Given the description of an element on the screen output the (x, y) to click on. 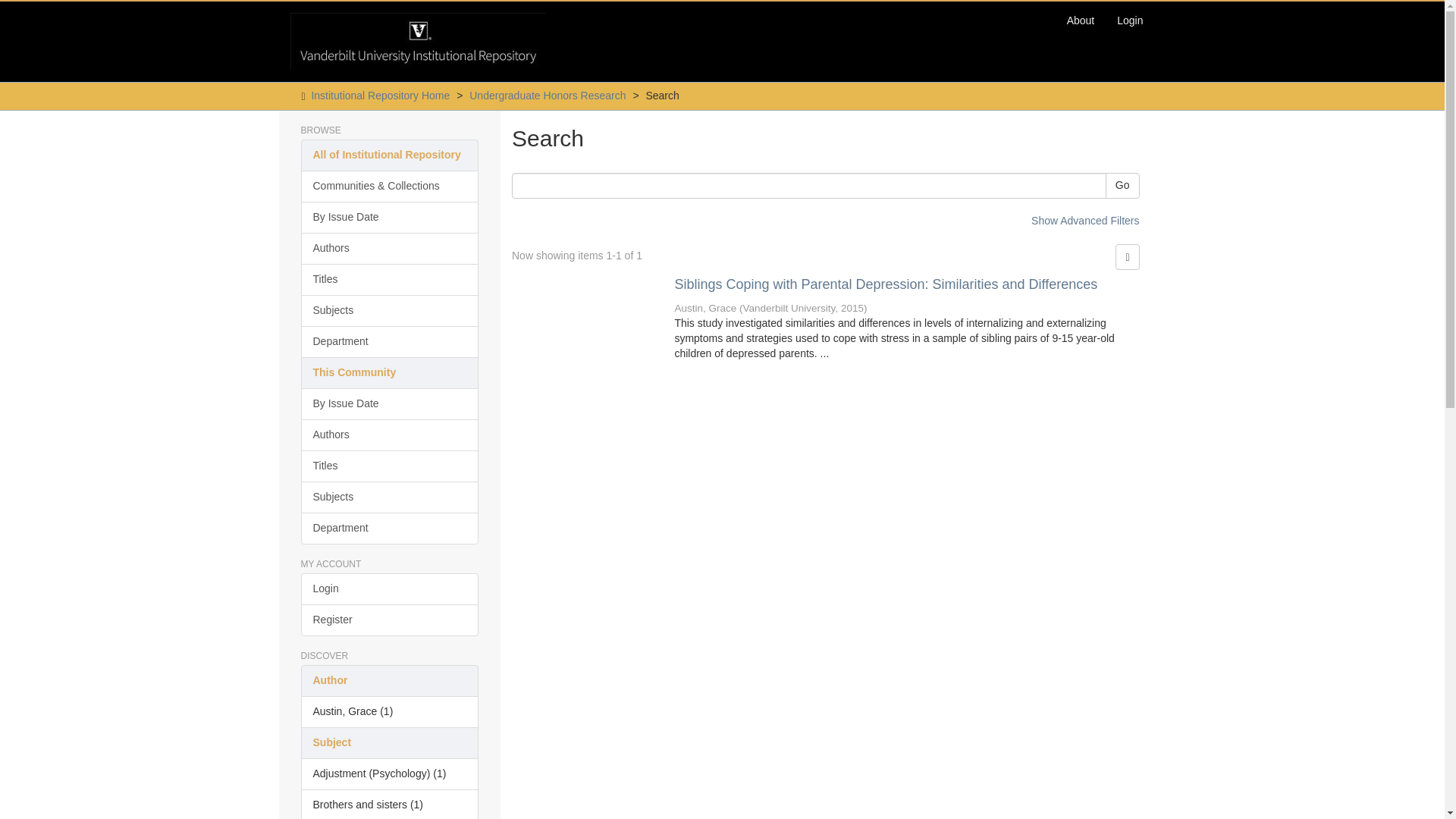
Authors (389, 435)
Author (389, 680)
Go (1122, 185)
All of Institutional Repository (389, 155)
Subjects (389, 497)
Department (389, 341)
About (1080, 20)
Titles (389, 466)
Login (1129, 20)
Show Advanced Filters (1084, 220)
Authors (389, 248)
Institutional Repository Home (380, 95)
By Issue Date (389, 217)
Subjects (389, 310)
Department (389, 528)
